Given the description of an element on the screen output the (x, y) to click on. 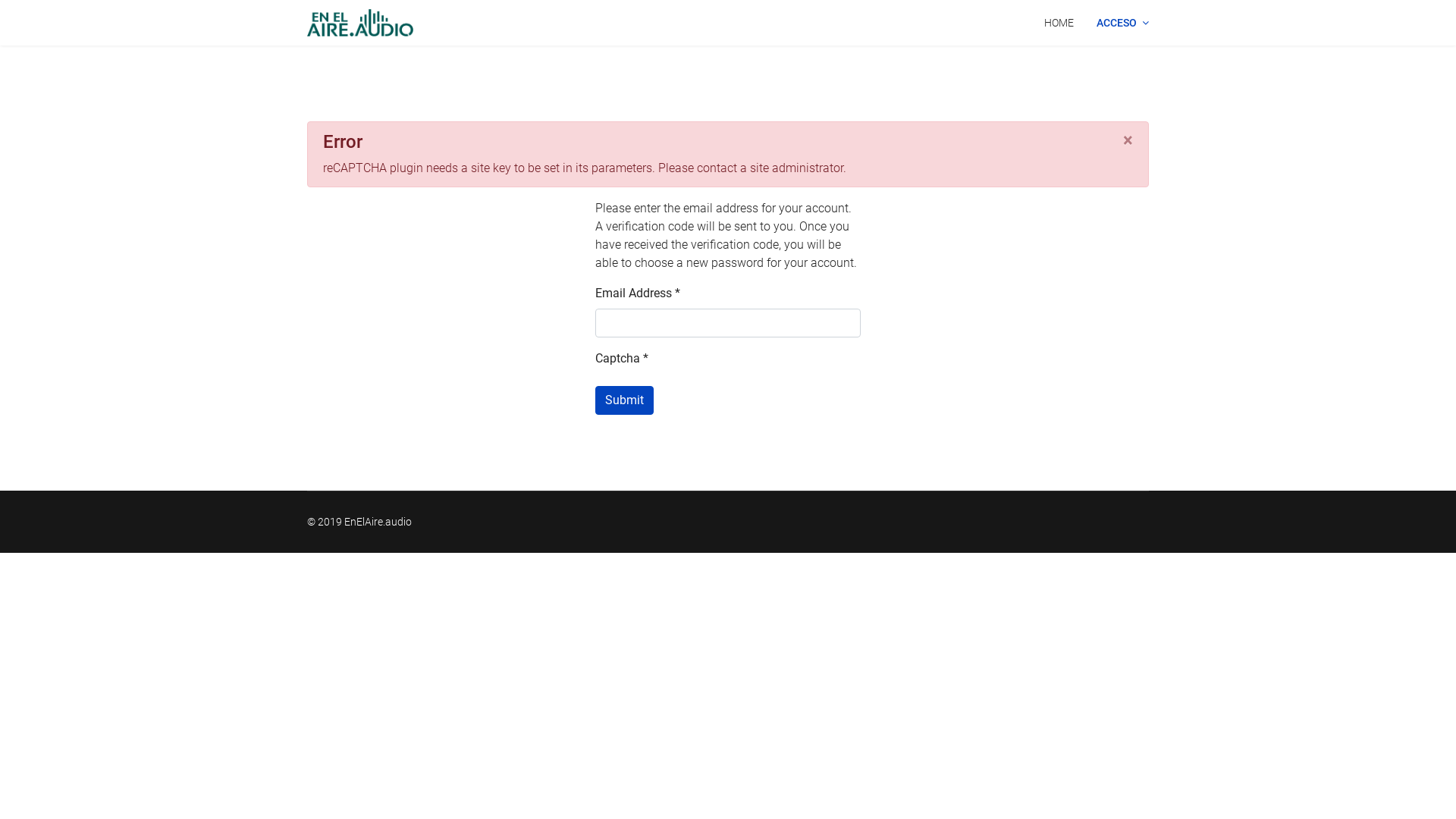
Submit Element type: text (624, 399)
ACCESO Element type: text (1122, 22)
HOME Element type: text (1058, 22)
